Given the description of an element on the screen output the (x, y) to click on. 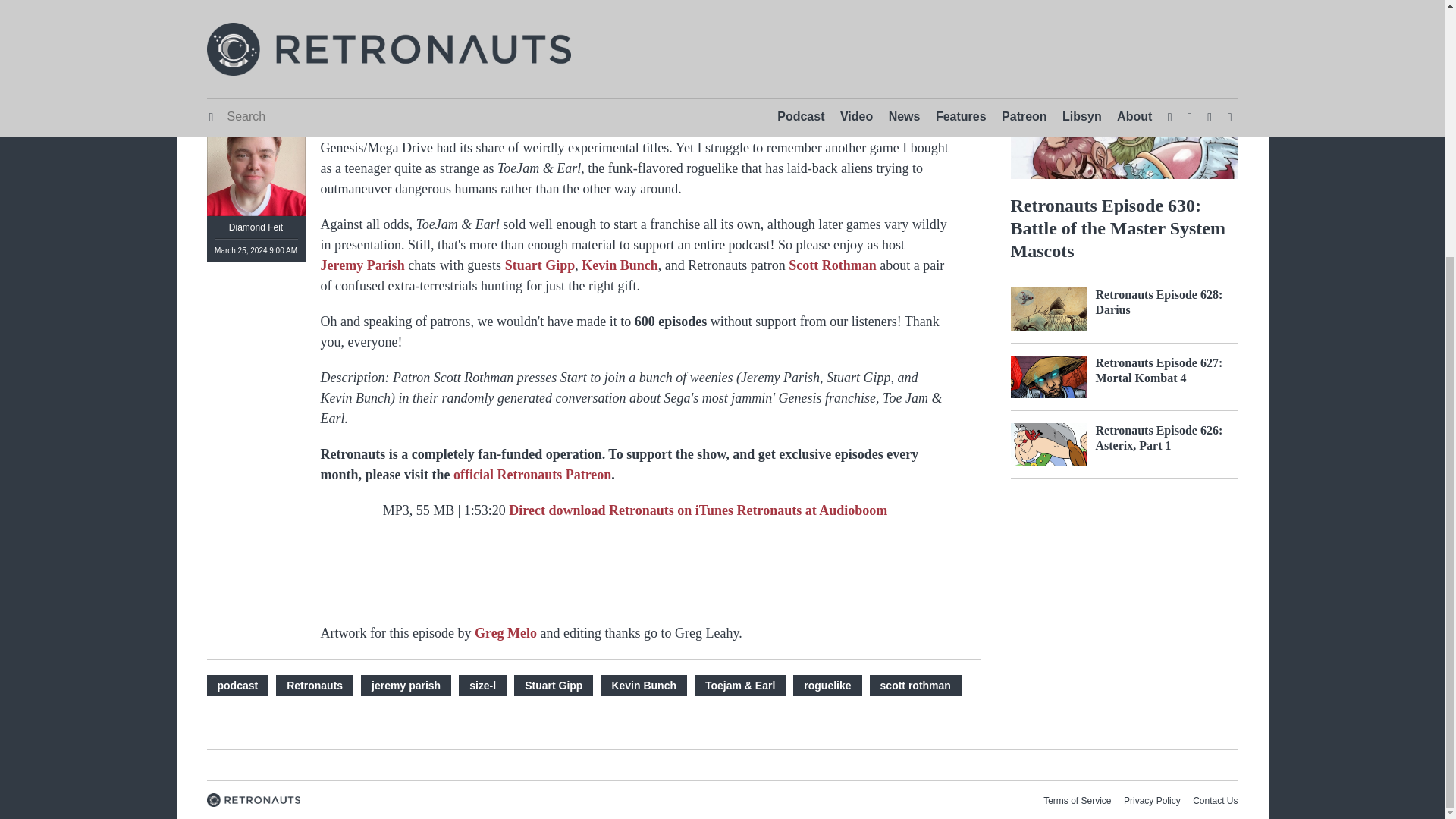
size-l (482, 685)
scott rothman (914, 685)
Stuart Gipp (552, 685)
jeremy parish (406, 685)
Retronauts (314, 685)
Jeremy Parish (362, 264)
Stuart Gipp (540, 264)
Retronauts on iTunes (672, 509)
Greg Melo (505, 632)
podcast (236, 685)
